Given the description of an element on the screen output the (x, y) to click on. 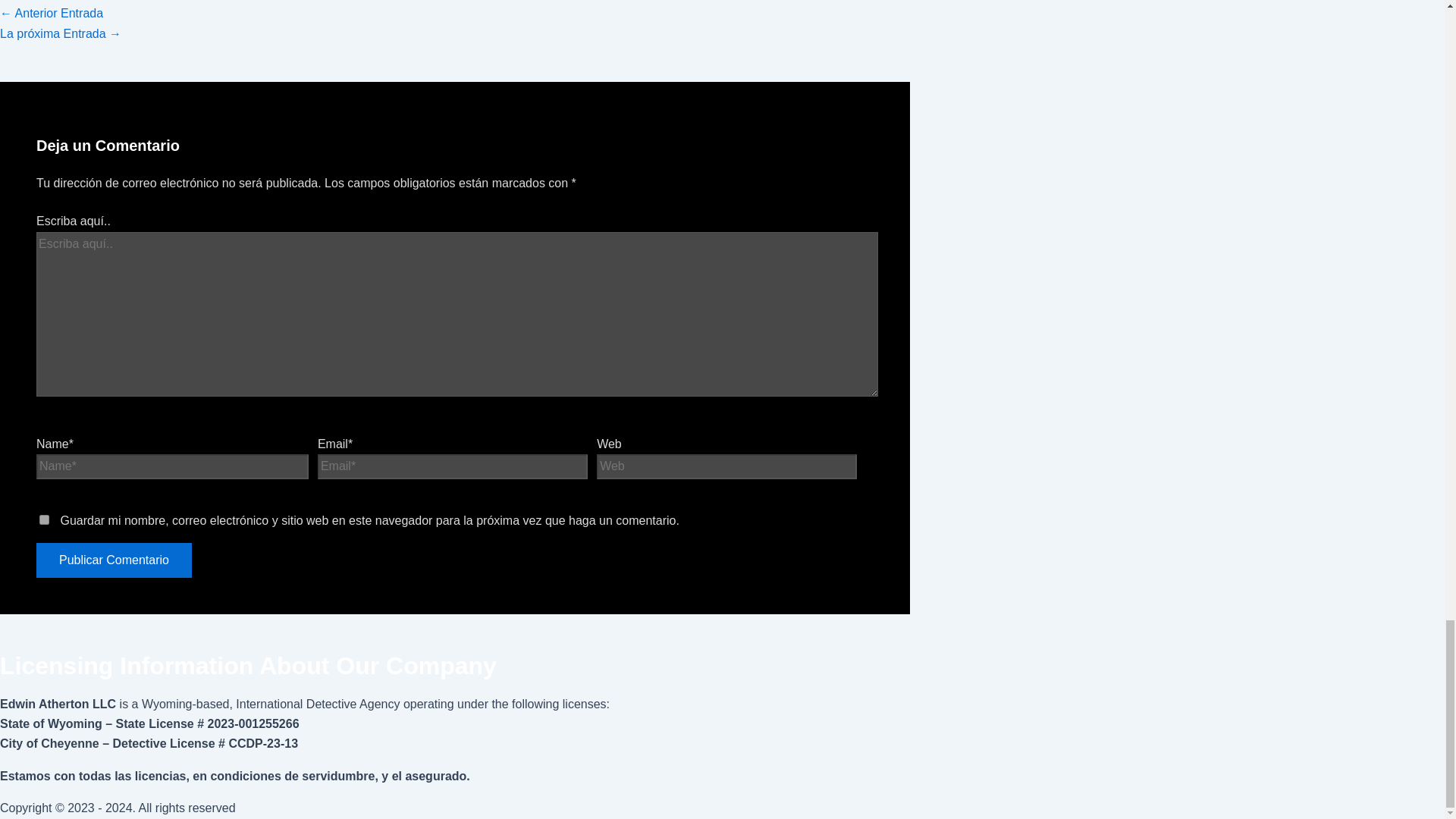
Publicar Comentario (114, 560)
yes (44, 519)
Publicar Comentario (114, 560)
Unleashing the Power of Asset Recovery Specialists in 2024 (60, 32)
